Given the description of an element on the screen output the (x, y) to click on. 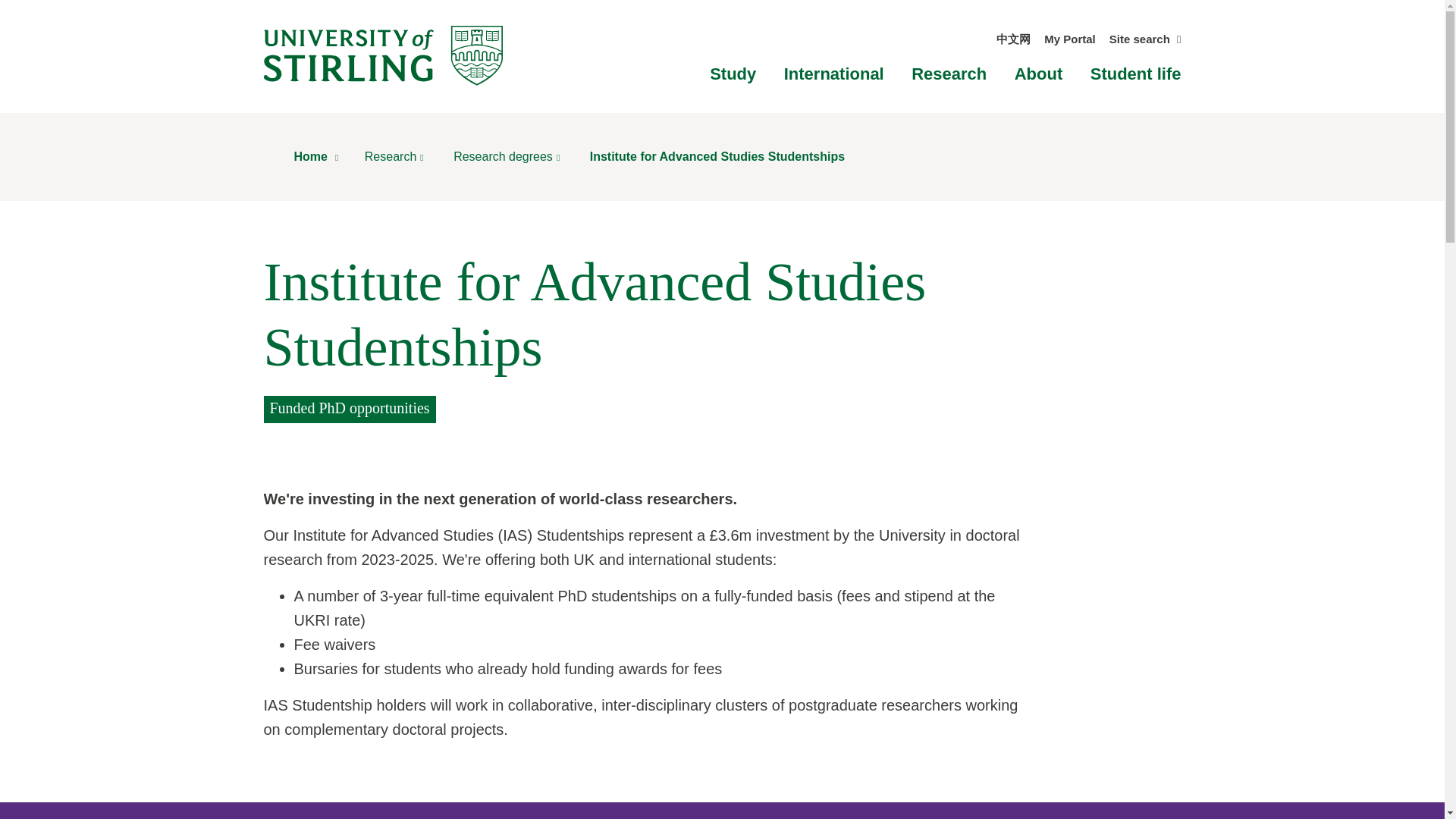
Student life (1135, 73)
Site search (1144, 38)
Study (732, 73)
About (1038, 73)
Research (949, 73)
International (833, 73)
University of Stirling (382, 54)
My Portal (1069, 38)
